Given the description of an element on the screen output the (x, y) to click on. 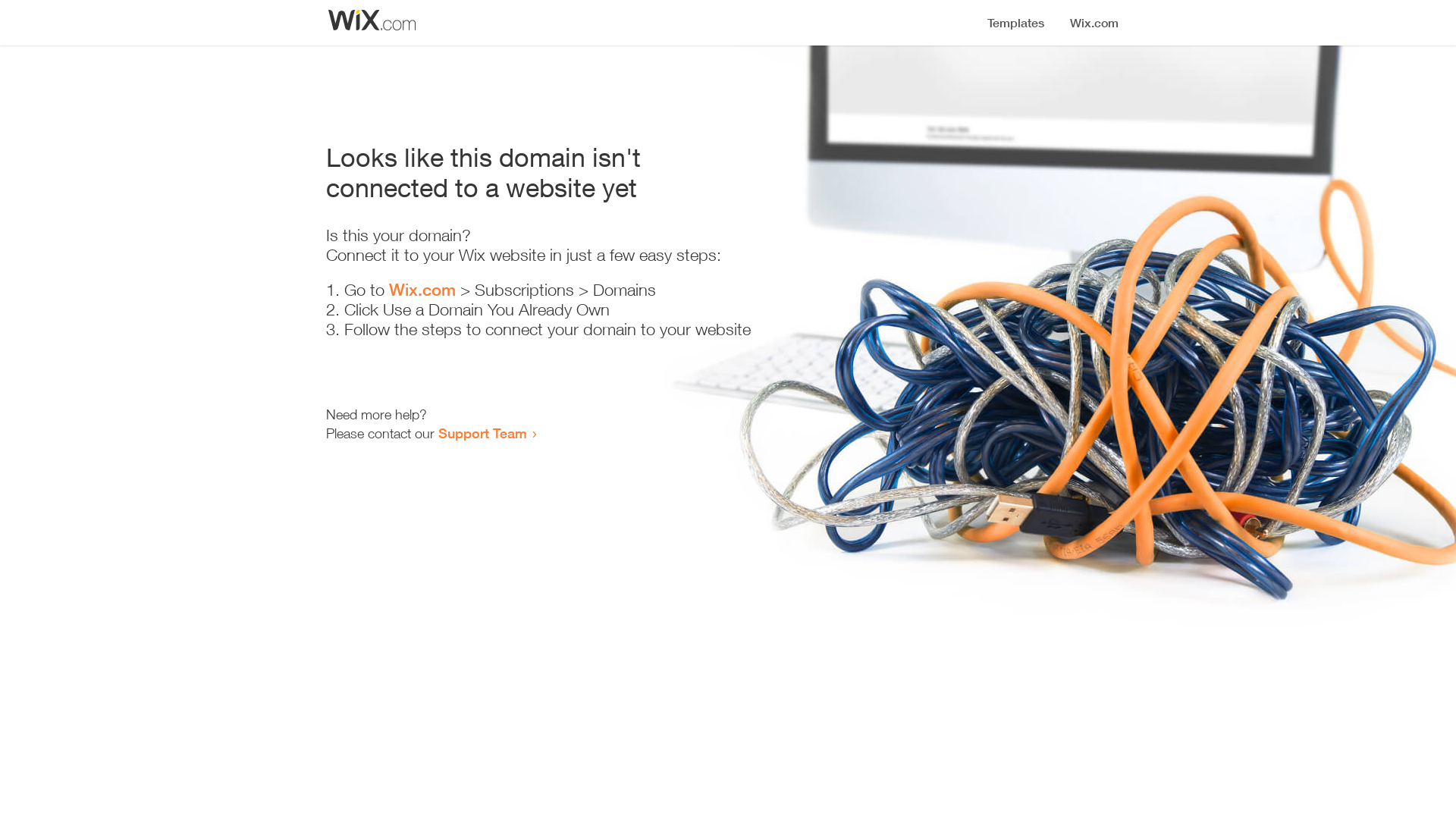
Support Team Element type: text (482, 432)
Wix.com Element type: text (422, 289)
